Given the description of an element on the screen output the (x, y) to click on. 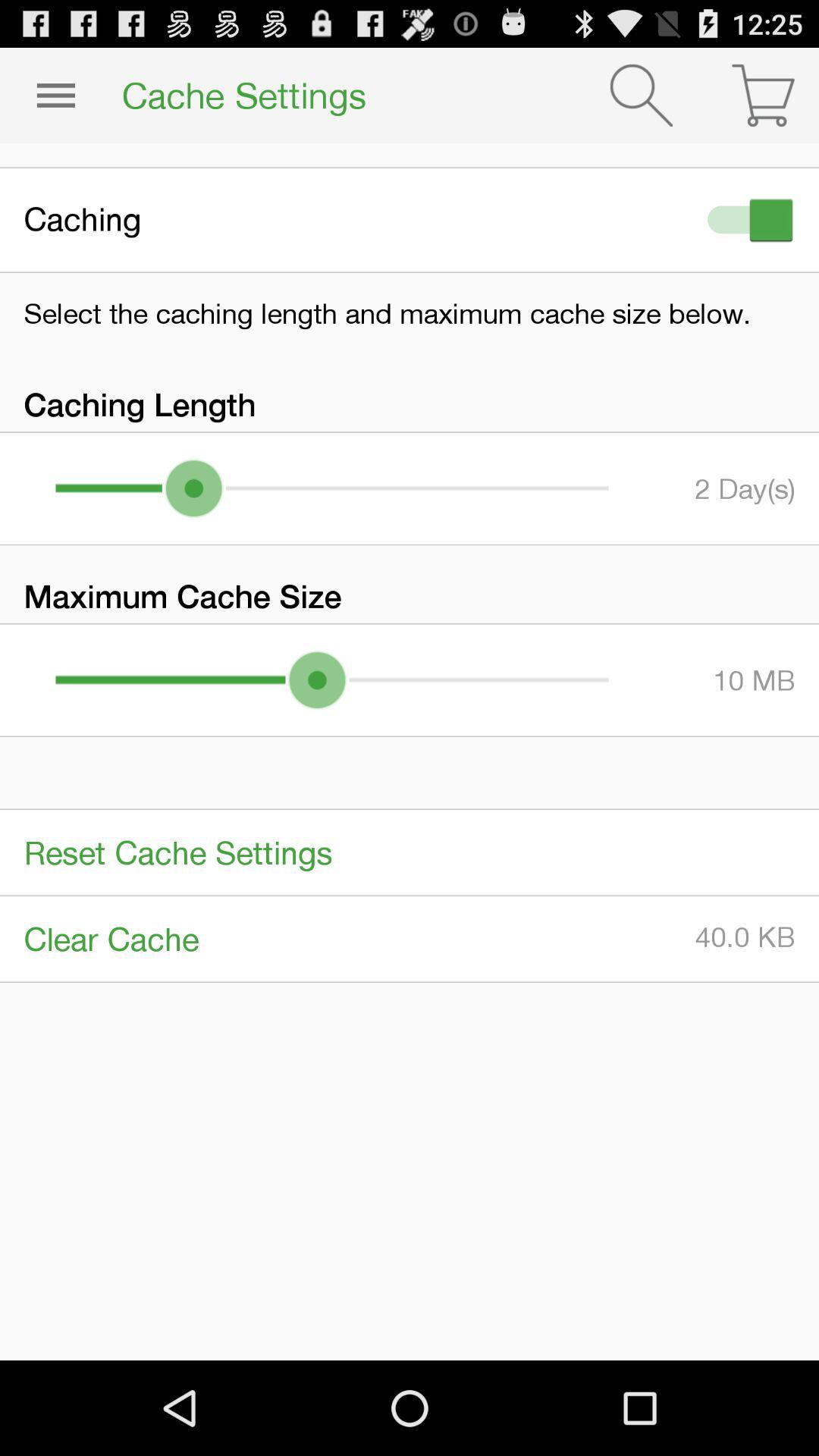
turn on icon next to the cache settings (641, 95)
